Given the description of an element on the screen output the (x, y) to click on. 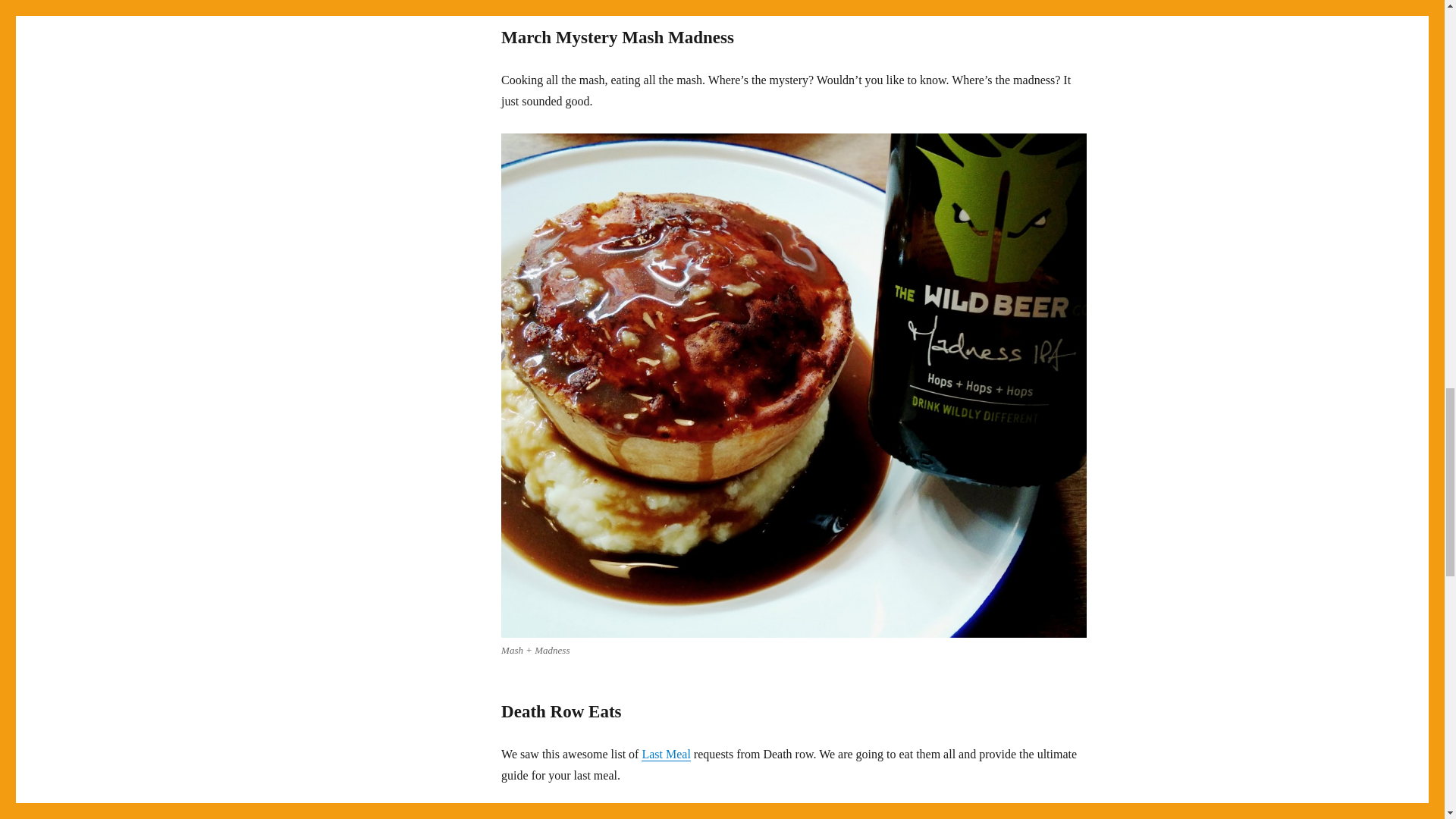
Last Meal (666, 753)
